Given the description of an element on the screen output the (x, y) to click on. 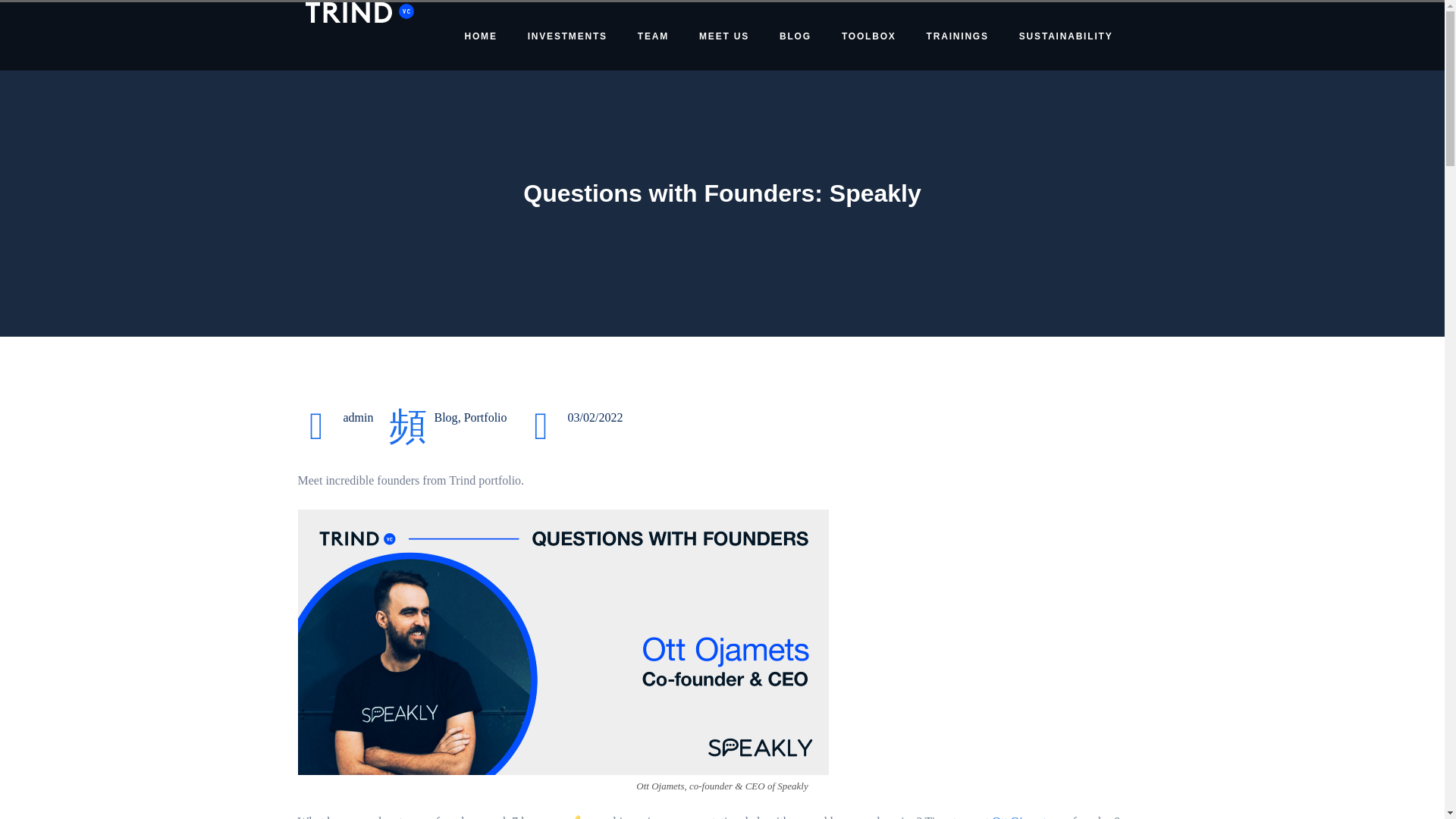
SUSTAINABILITY (1066, 36)
INVESTMENTS (567, 36)
Ott Ojamets (1021, 816)
TOOLBOX (869, 36)
MEET US (724, 36)
BLOG (795, 36)
HOME (480, 36)
TRAININGS (957, 36)
TEAM (653, 36)
